Given the description of an element on the screen output the (x, y) to click on. 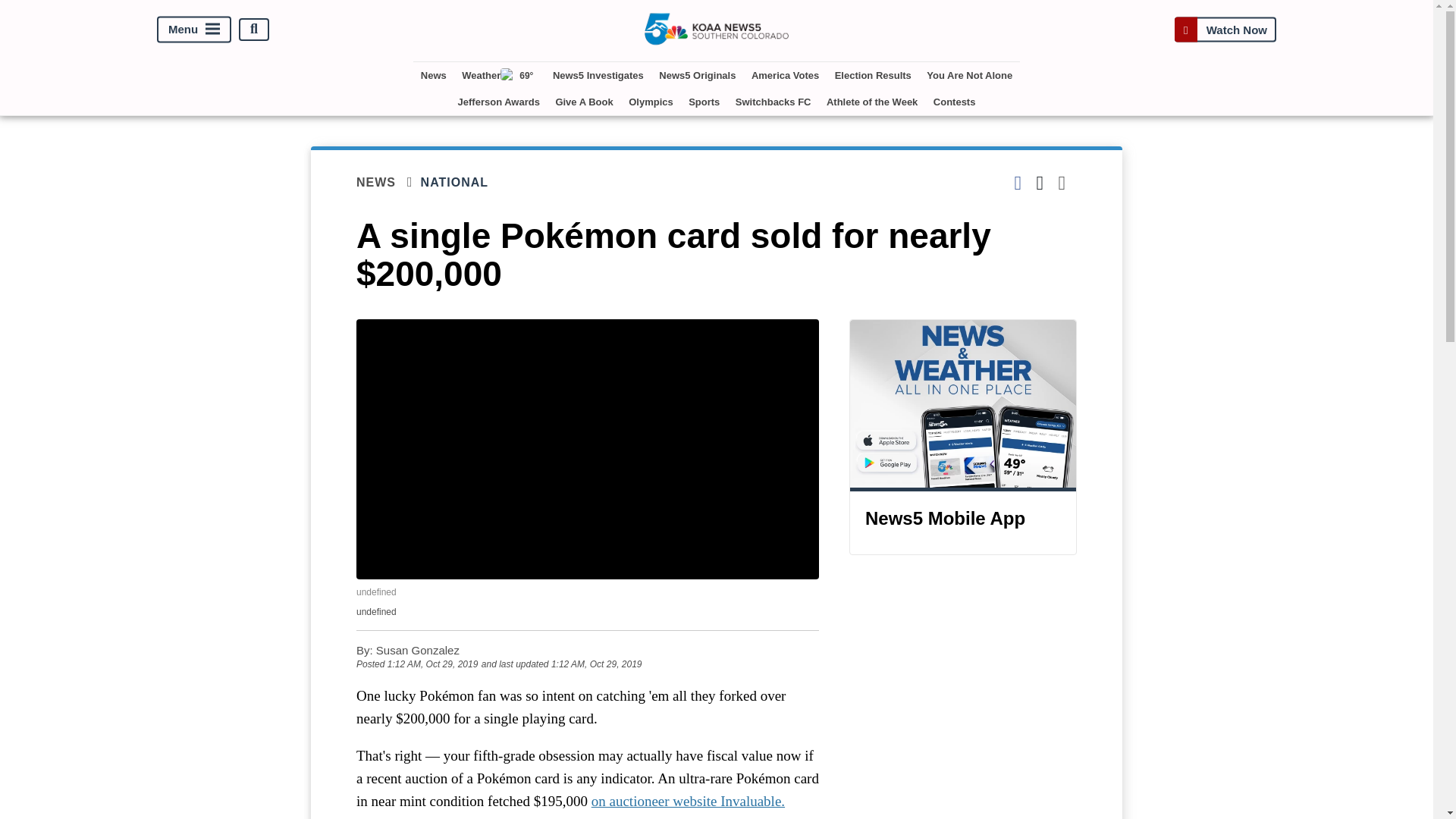
Watch Now (1224, 29)
Menu (194, 28)
